Given the description of an element on the screen output the (x, y) to click on. 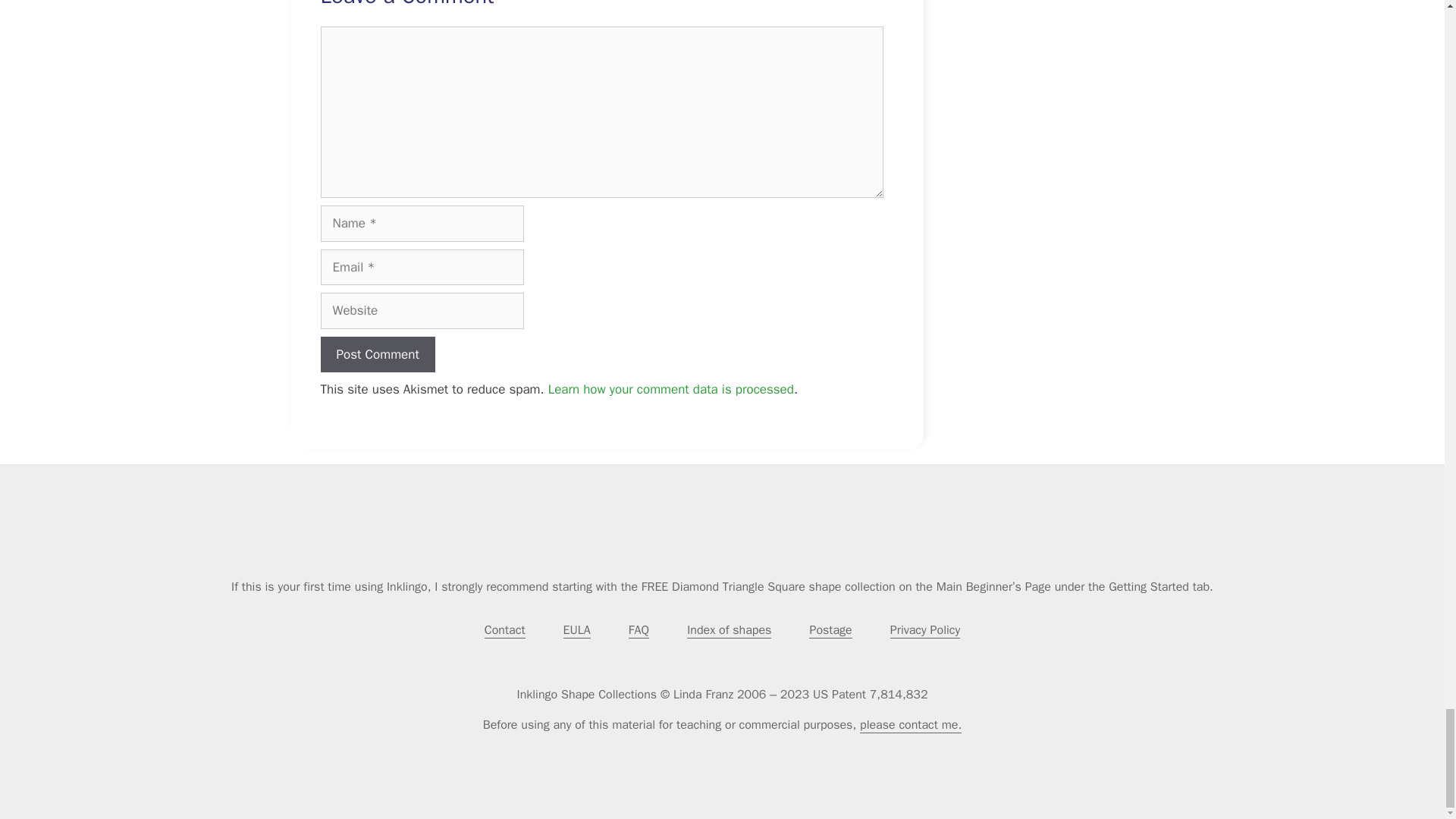
Post Comment (376, 354)
